Given the description of an element on the screen output the (x, y) to click on. 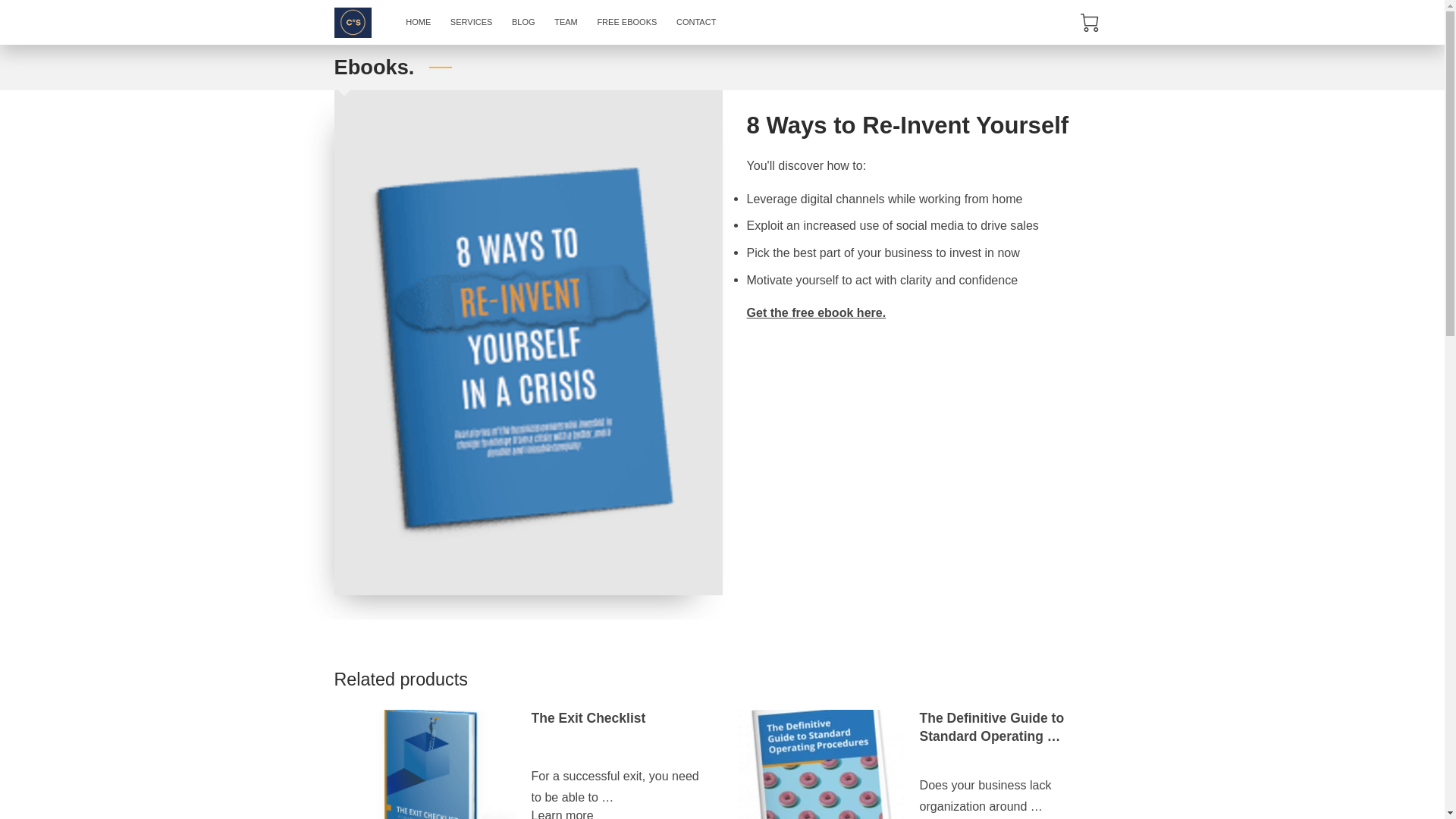
0 (1088, 22)
FREE EBOOKS (627, 22)
BLOG (523, 22)
HOME (418, 22)
Get the free ebook here. (815, 312)
TEAM (565, 22)
CONTACT (695, 22)
The Exit Checklist (588, 717)
SERVICES (471, 22)
